Given the description of an element on the screen output the (x, y) to click on. 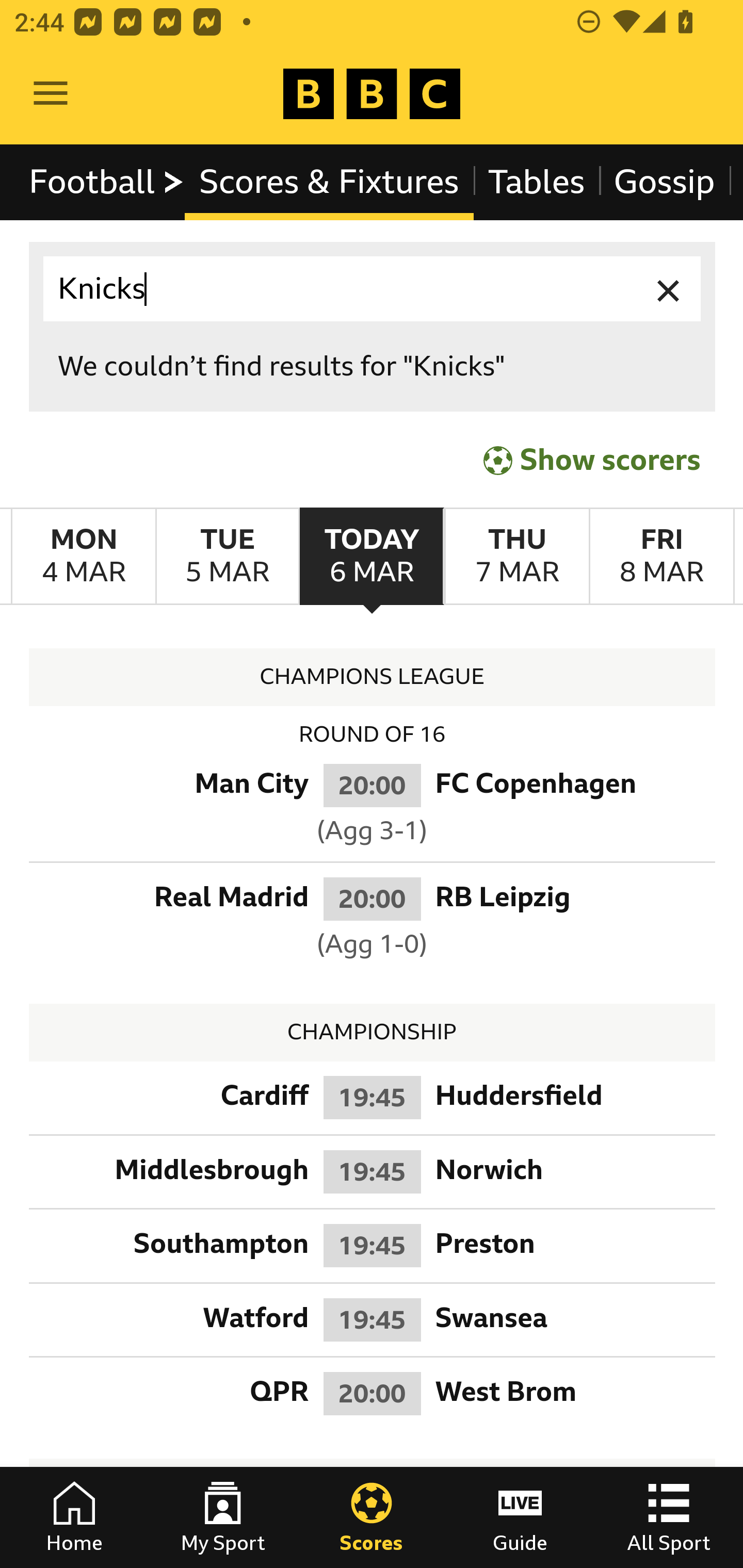
Open Menu (50, 93)
Football  (106, 181)
Scores & Fixtures (329, 181)
Tables (536, 181)
Gossip (664, 181)
Knicks (372, 289)
Clear input (669, 289)
Show scorers (591, 459)
MondayMarch 4th Monday March 4th (83, 557)
TuesdayMarch 5th Tuesday March 5th (227, 557)
ThursdayMarch 7th Thursday March 7th (516, 557)
FridayMarch 8th Friday March 8th (661, 557)
Home (74, 1517)
My Sport (222, 1517)
Guide (519, 1517)
All Sport (668, 1517)
